Given the description of an element on the screen output the (x, y) to click on. 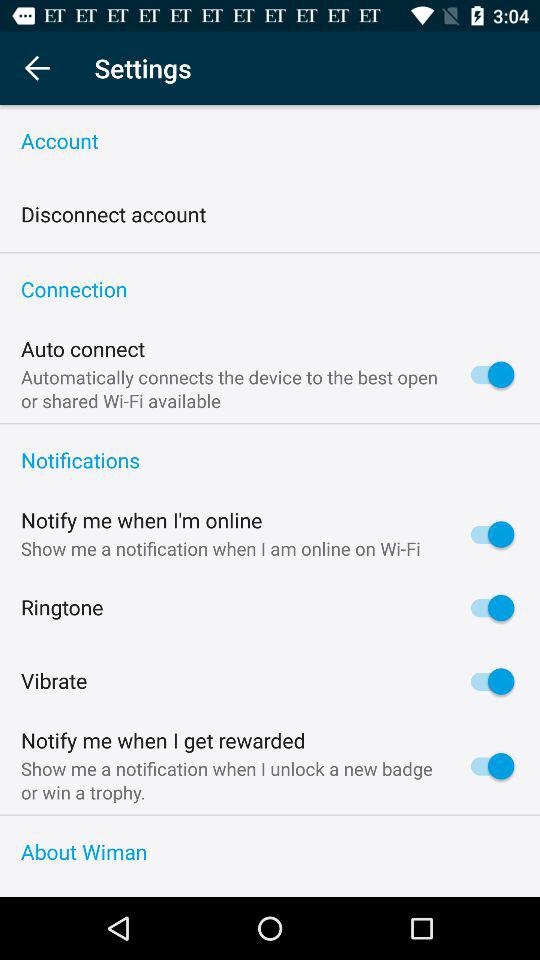
swipe until the notifications item (270, 461)
